Given the description of an element on the screen output the (x, y) to click on. 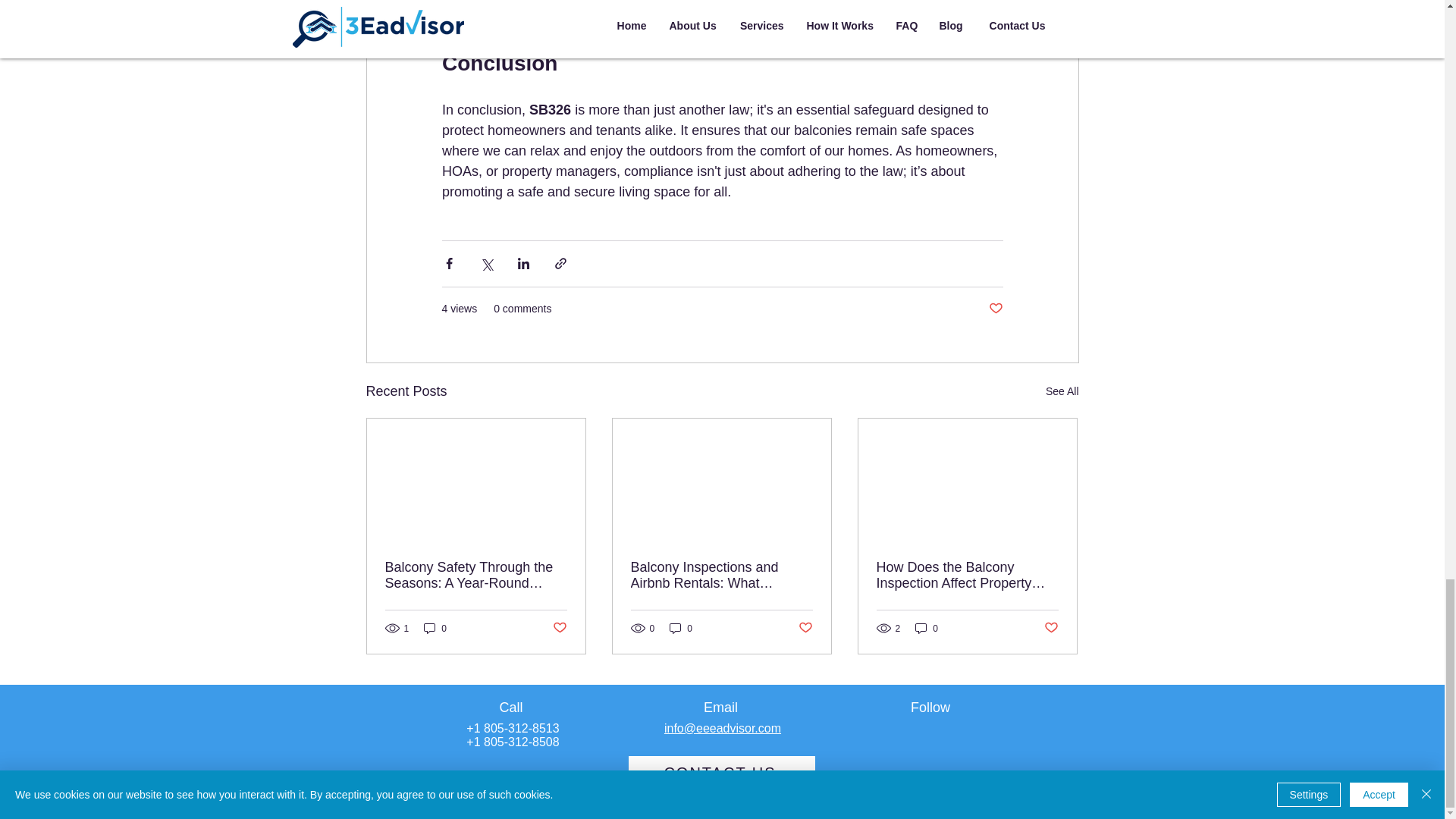
How Does the Balcony Inspection Affect Property Value? (967, 575)
0 (681, 627)
0 (926, 627)
0 (435, 627)
Post not marked as liked (804, 627)
See All (1061, 391)
Post not marked as liked (995, 308)
Post not marked as liked (1050, 627)
Post not marked as liked (558, 627)
